Given the description of an element on the screen output the (x, y) to click on. 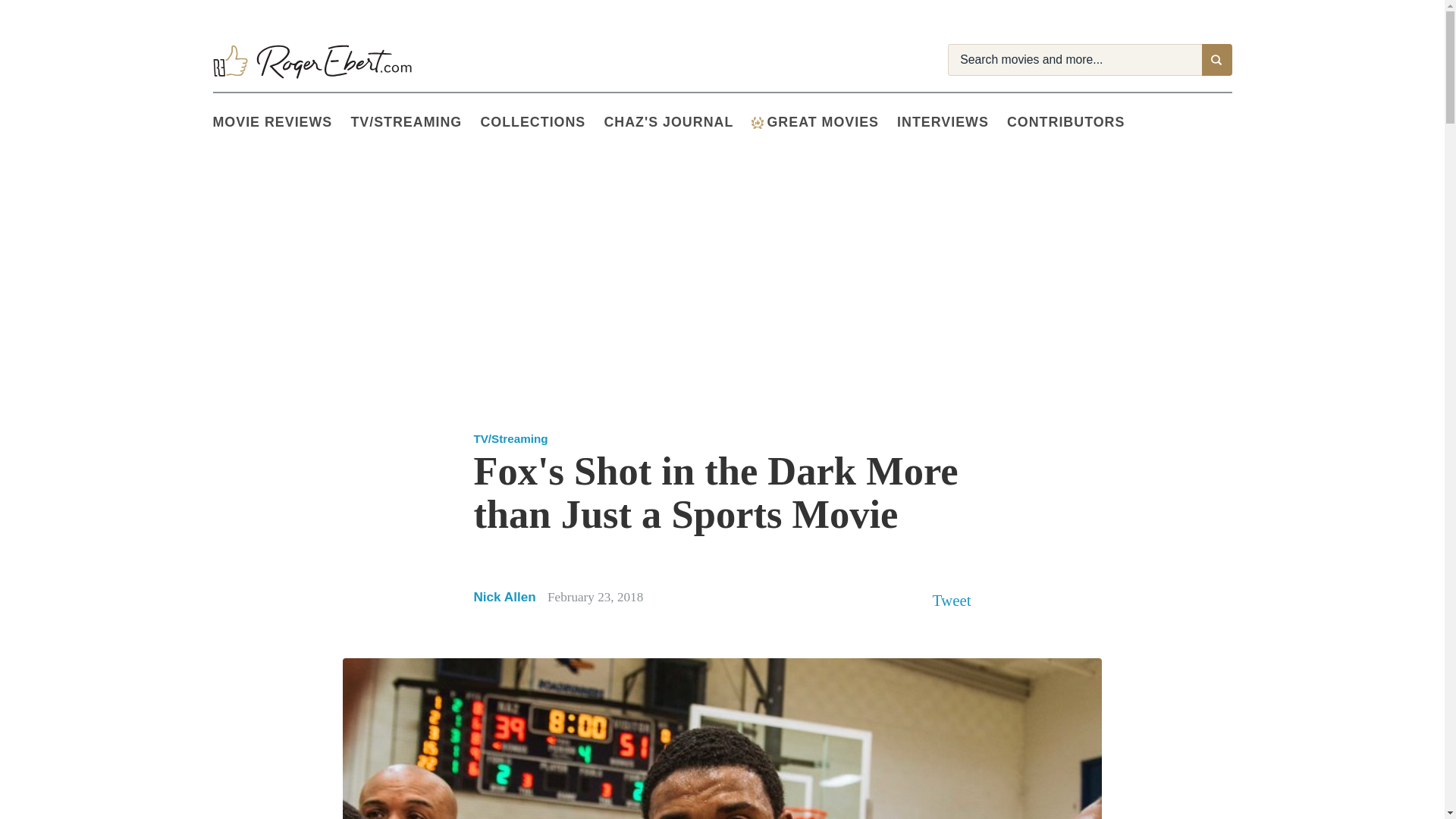
Great Movies (823, 122)
INTERVIEWS (951, 122)
GREAT MOVIES (823, 122)
Collections (542, 122)
Nick Allen (504, 596)
COLLECTIONS (542, 122)
MOVIE REVIEWS (281, 122)
Tweet (952, 600)
CONTRIBUTORS (1074, 122)
Movie Reviews (281, 122)
